Given the description of an element on the screen output the (x, y) to click on. 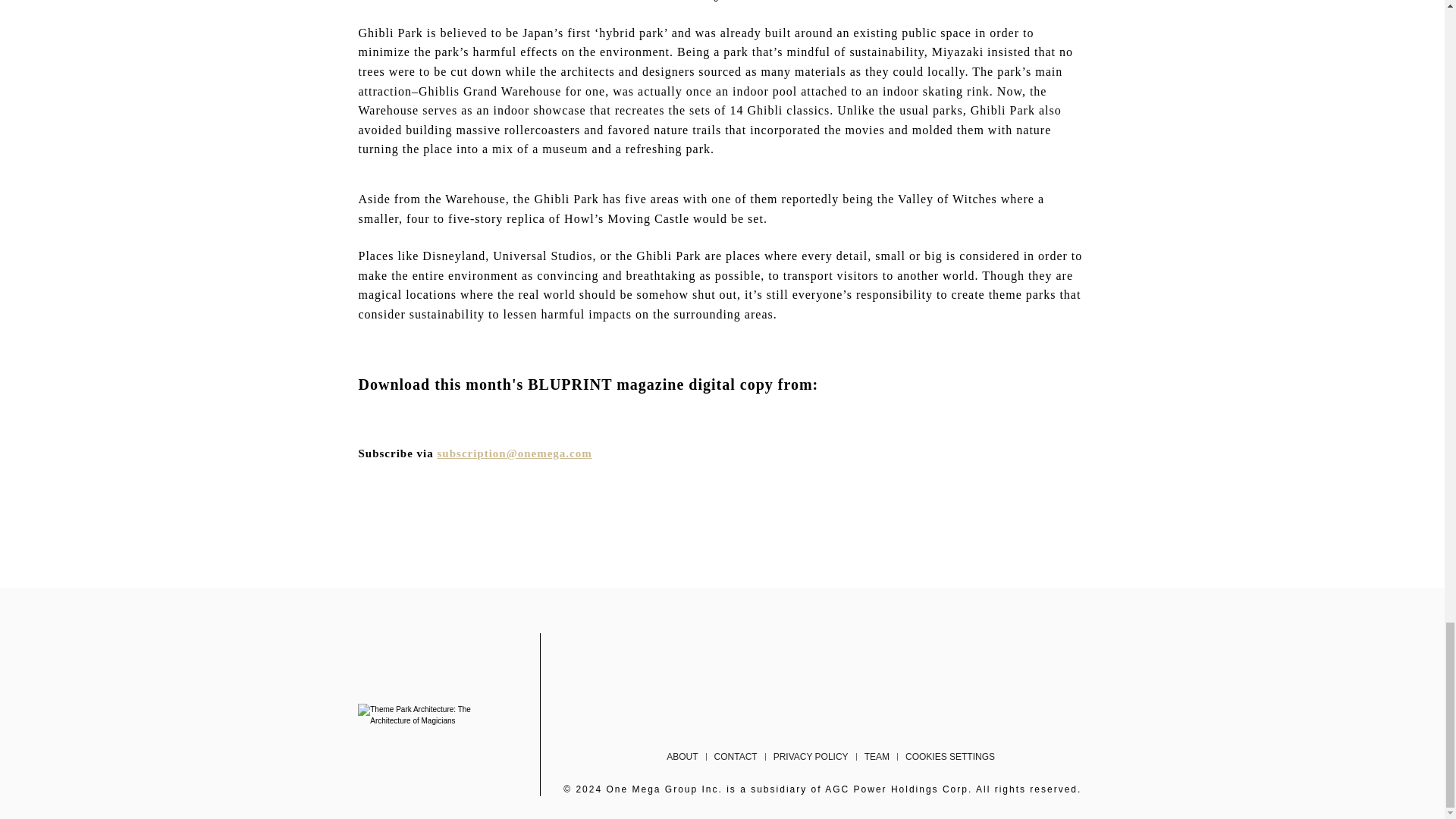
TEAM (876, 756)
Subscribe now! (515, 453)
CONTACT (735, 756)
PRIVACY POLICY (810, 756)
ABOUT (681, 756)
Theme Park Architecture: The Architecture of Magicians (426, 714)
